Given the description of an element on the screen output the (x, y) to click on. 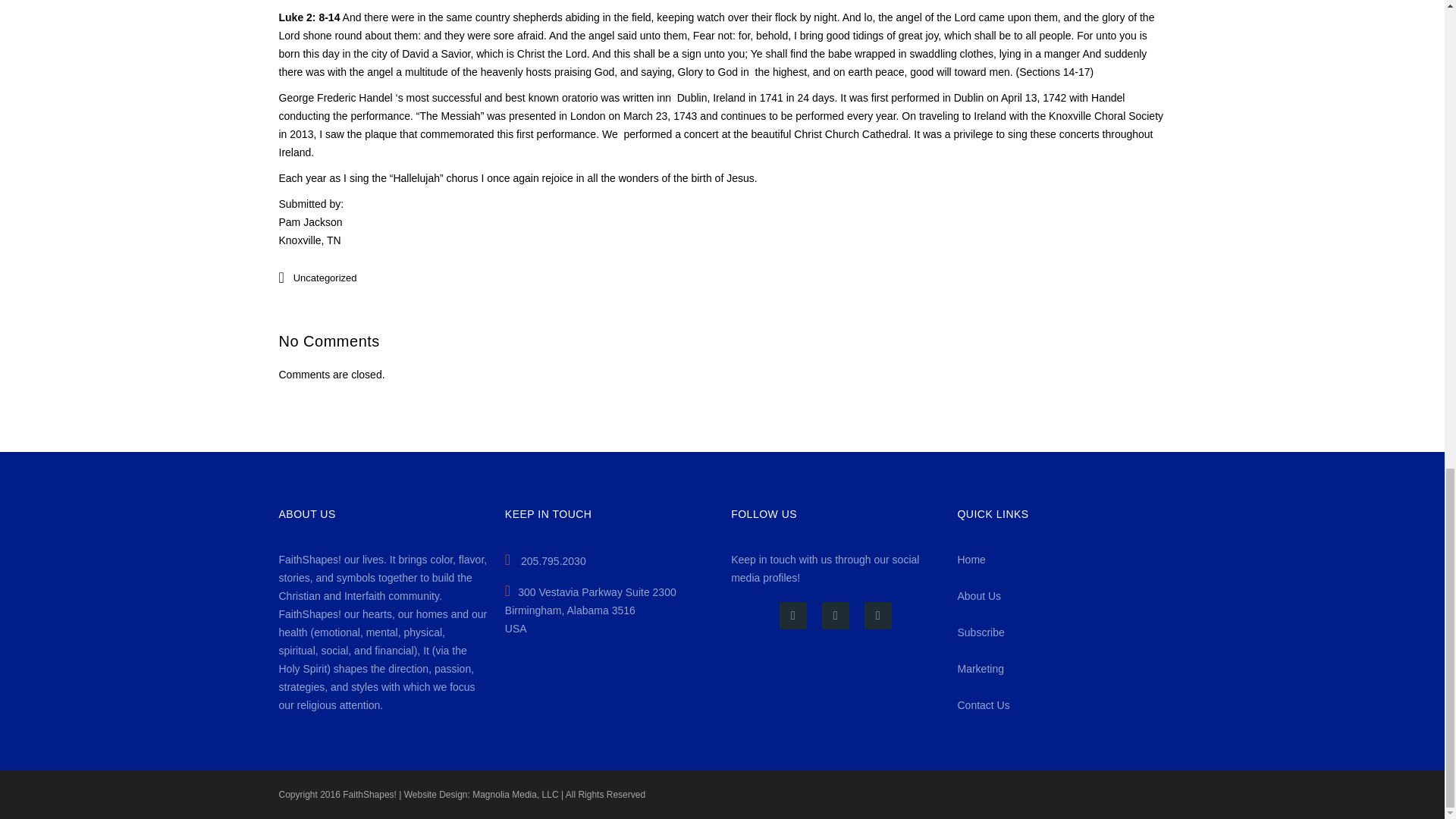
About Us (978, 595)
Home (970, 559)
Twitter (835, 615)
LinkedIn (877, 615)
Subscribe (980, 632)
Uncategorized (325, 277)
Facebook (792, 615)
